Given the description of an element on the screen output the (x, y) to click on. 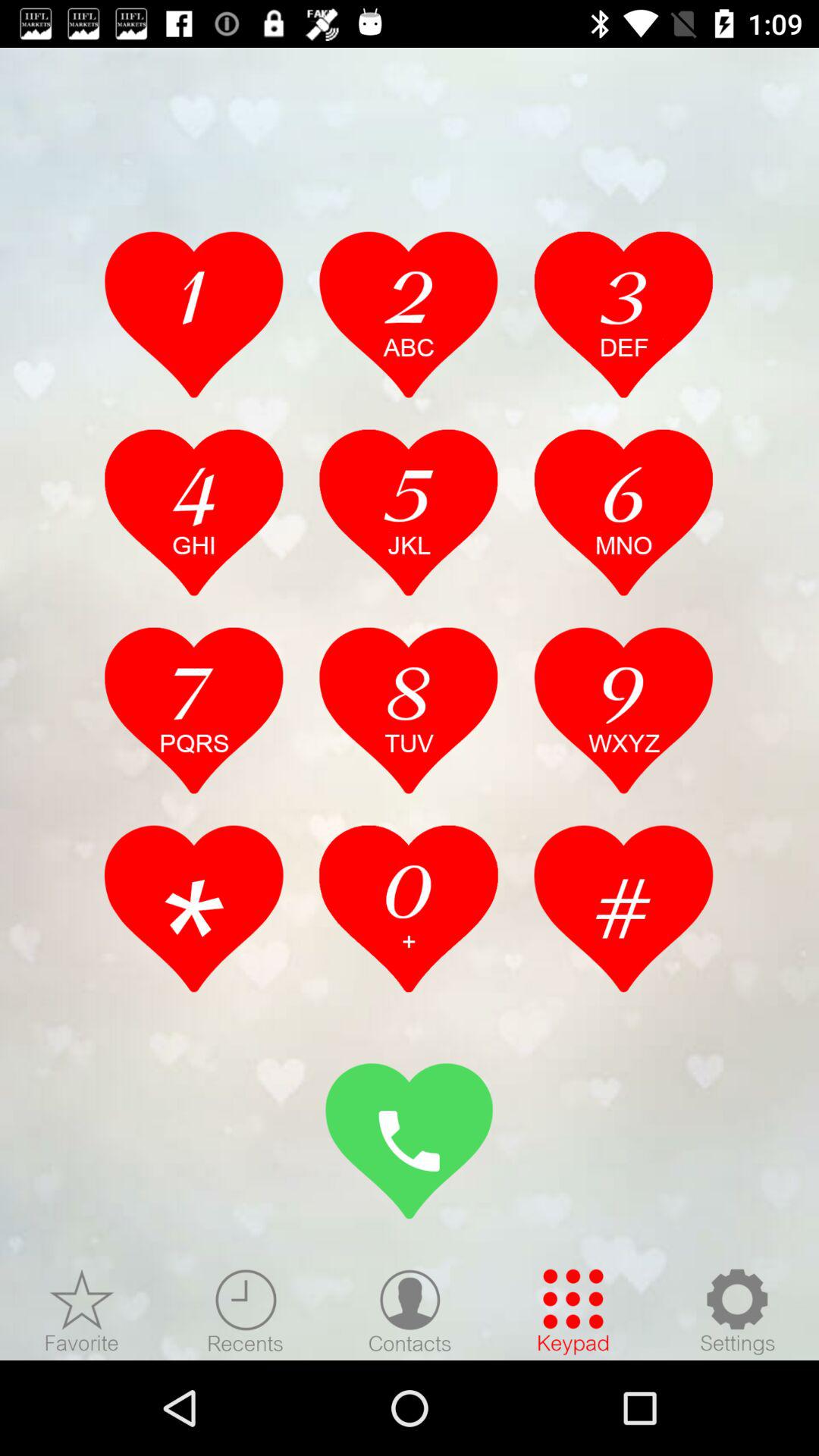
pound symbol on key pad (623, 908)
